Given the description of an element on the screen output the (x, y) to click on. 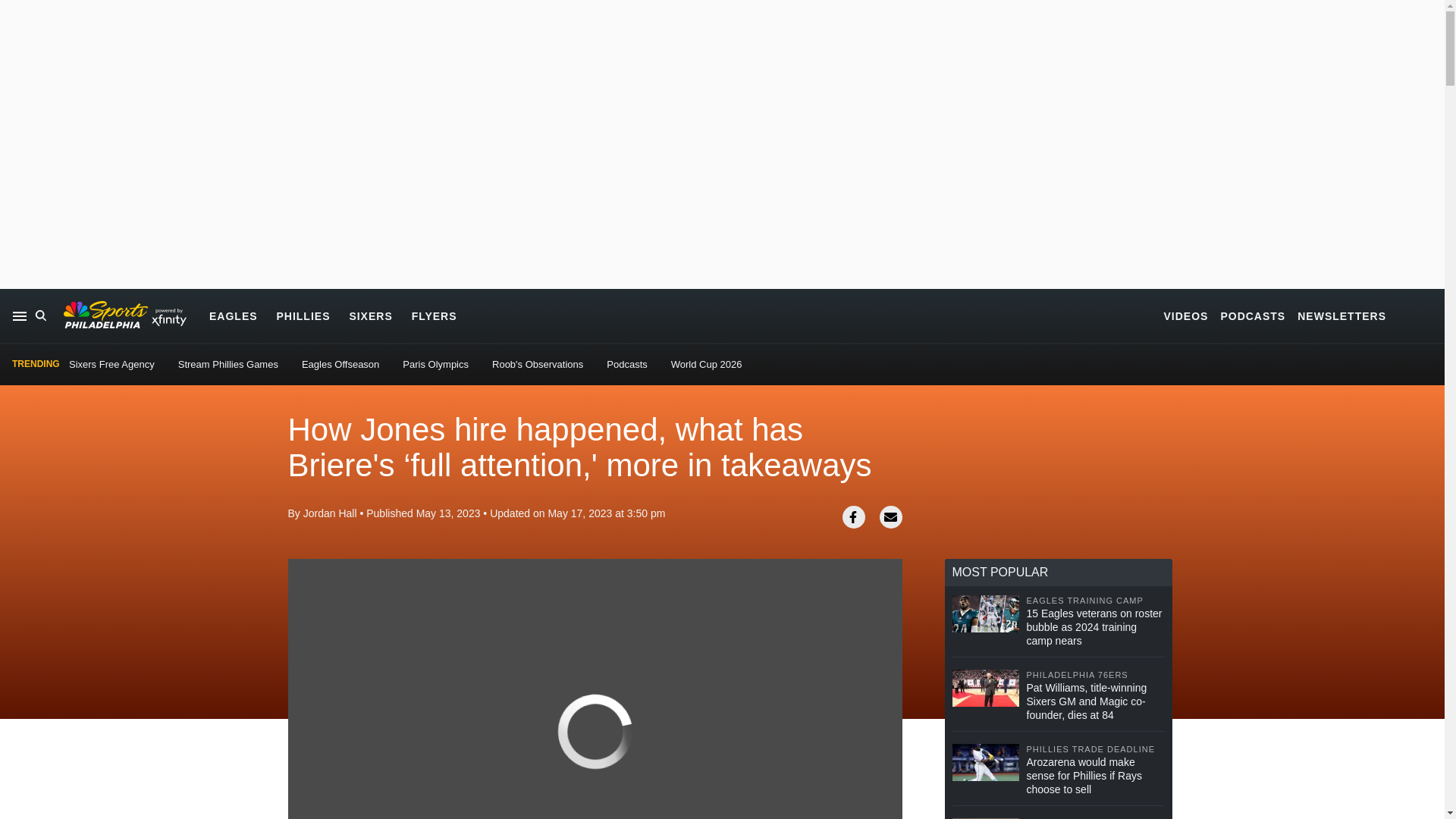
PODCASTS (1252, 315)
PHILLIES (303, 315)
World Cup 2026 (706, 364)
FLYERS (434, 315)
Stream Phillies Games (227, 364)
Jordan Hall (329, 512)
NEWSLETTERS (1341, 315)
Paris Olympics (435, 364)
Eagles Offseason (339, 364)
Podcasts (626, 364)
Roob's Observations (537, 364)
SIXERS (370, 315)
Sixers Free Agency (111, 364)
VIDEOS (1185, 315)
EAGLES (233, 315)
